Given the description of an element on the screen output the (x, y) to click on. 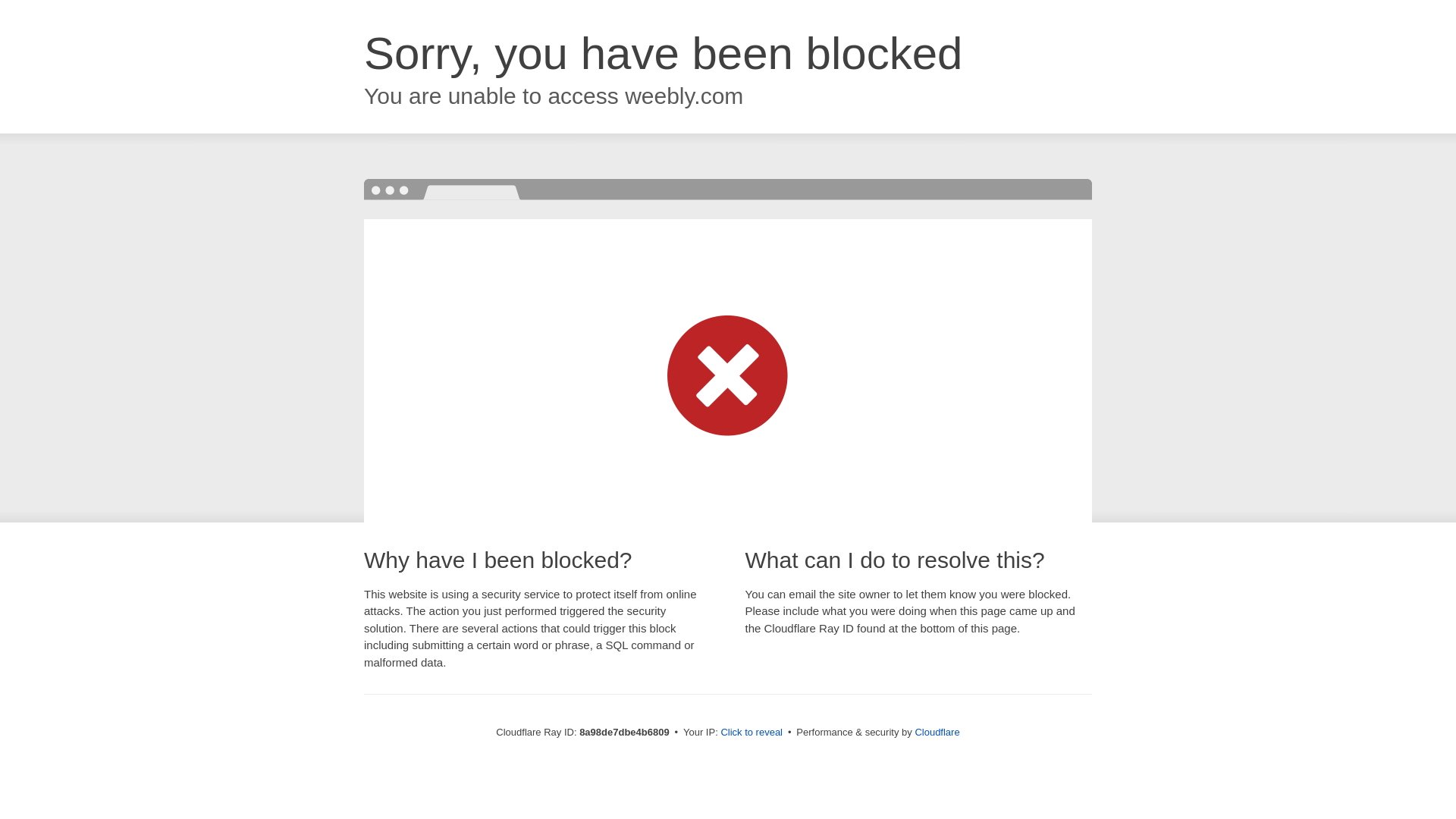
Click to reveal (751, 732)
Cloudflare (936, 731)
